Given the description of an element on the screen output the (x, y) to click on. 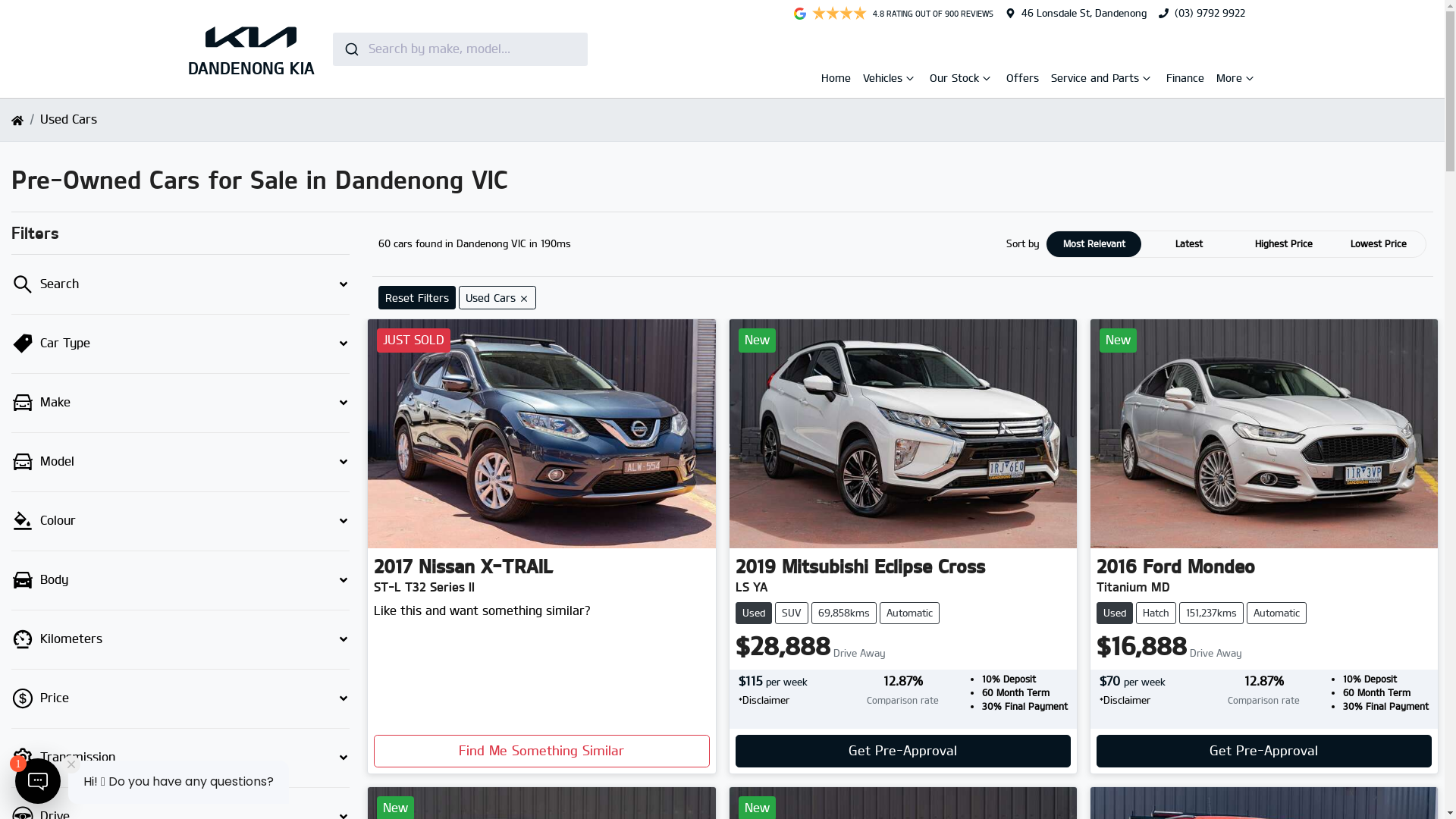
Make Element type: text (180, 403)
46 Lonsdale St, Dandenong Element type: text (1082, 12)
Price Element type: text (180, 698)
JUST SOLD Element type: text (541, 433)
DANDENONG KIA Element type: text (251, 48)
Find Me Something Similar Element type: text (541, 750)
Home Element type: text (835, 77)
More Element type: text (1230, 80)
Model Element type: text (180, 462)
New Element type: text (902, 433)
Kilometers Element type: text (180, 639)
Service and Parts Element type: text (1096, 80)
Reset Filters Element type: text (416, 297)
(03) 9792 9922 Element type: text (1208, 12)
Search Element type: text (180, 284)
Offers Element type: text (1021, 77)
Transmission Element type: text (180, 757)
New Element type: text (1263, 433)
Submit Element type: hover (349, 48)
Car Type Element type: text (180, 343)
Colour Element type: text (180, 521)
Get Pre-Approval Element type: text (902, 750)
Finance Element type: text (1185, 77)
Get Pre-Approval Element type: text (1263, 750)
Vehicles Element type: text (883, 80)
Our Stock Element type: text (955, 80)
Body Element type: text (180, 580)
